Given the description of an element on the screen output the (x, y) to click on. 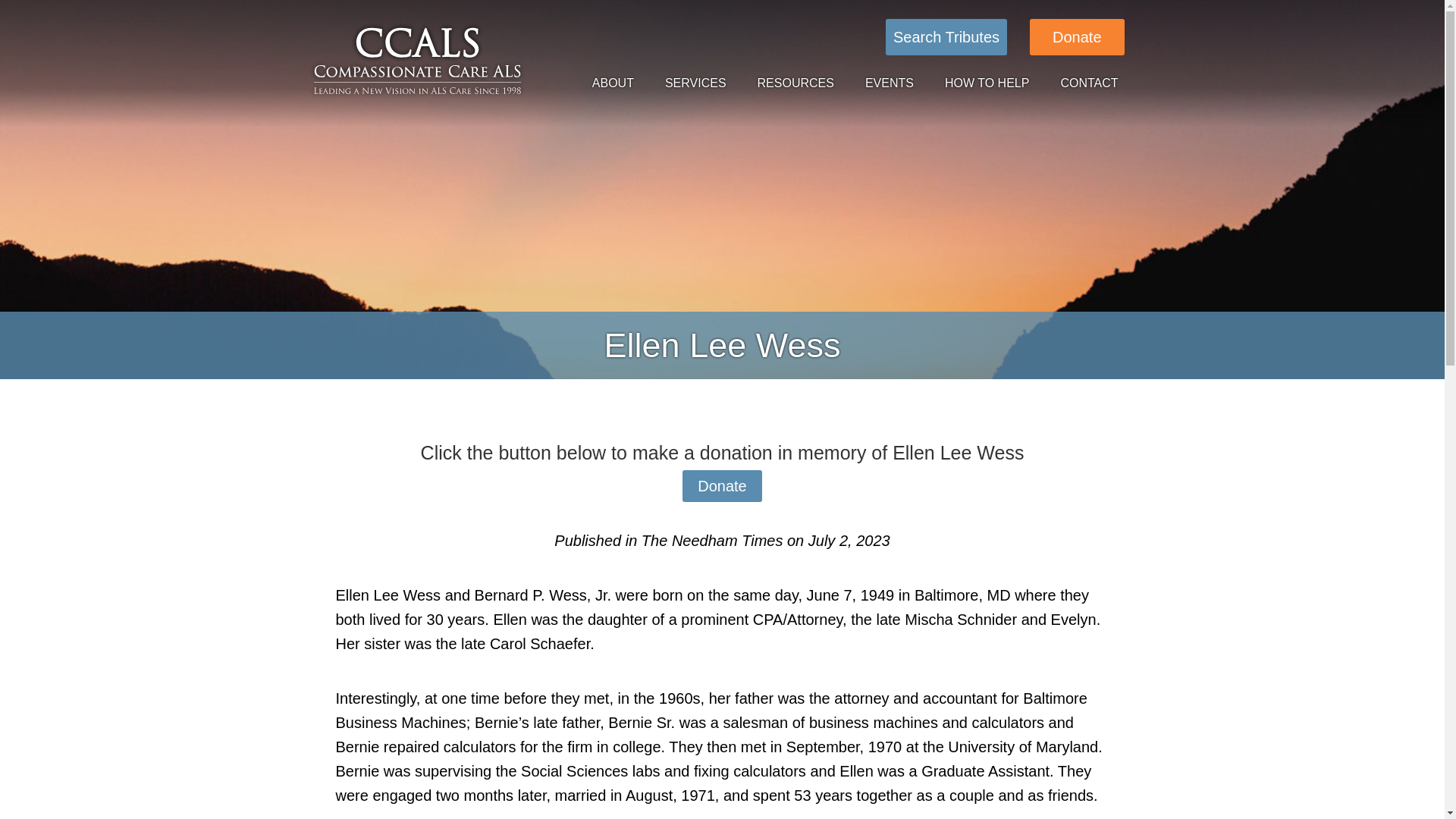
SERVICES (702, 83)
CCALS logo white (417, 60)
RESOURCES (802, 83)
Donate (1076, 36)
ABOUT (619, 83)
Search Tributes (946, 36)
Click Here (946, 36)
CONTACT (1094, 83)
EVENTS (895, 83)
HOW TO HELP (992, 83)
